Given the description of an element on the screen output the (x, y) to click on. 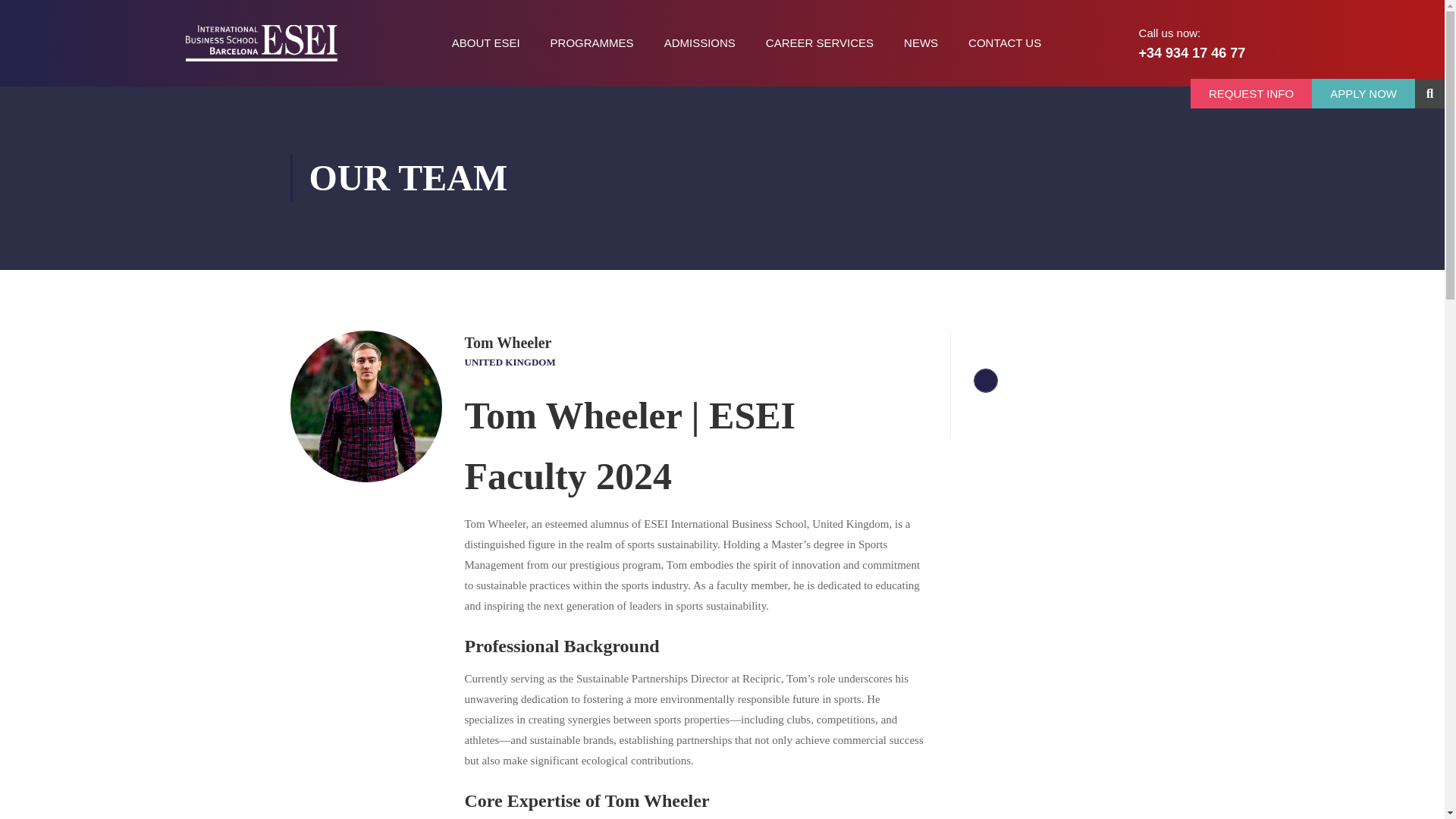
PROGRAMMES (592, 43)
ADMISSIONS (700, 43)
ABOUT ESEI (485, 43)
Tom Wheeler (365, 406)
